Given the description of an element on the screen output the (x, y) to click on. 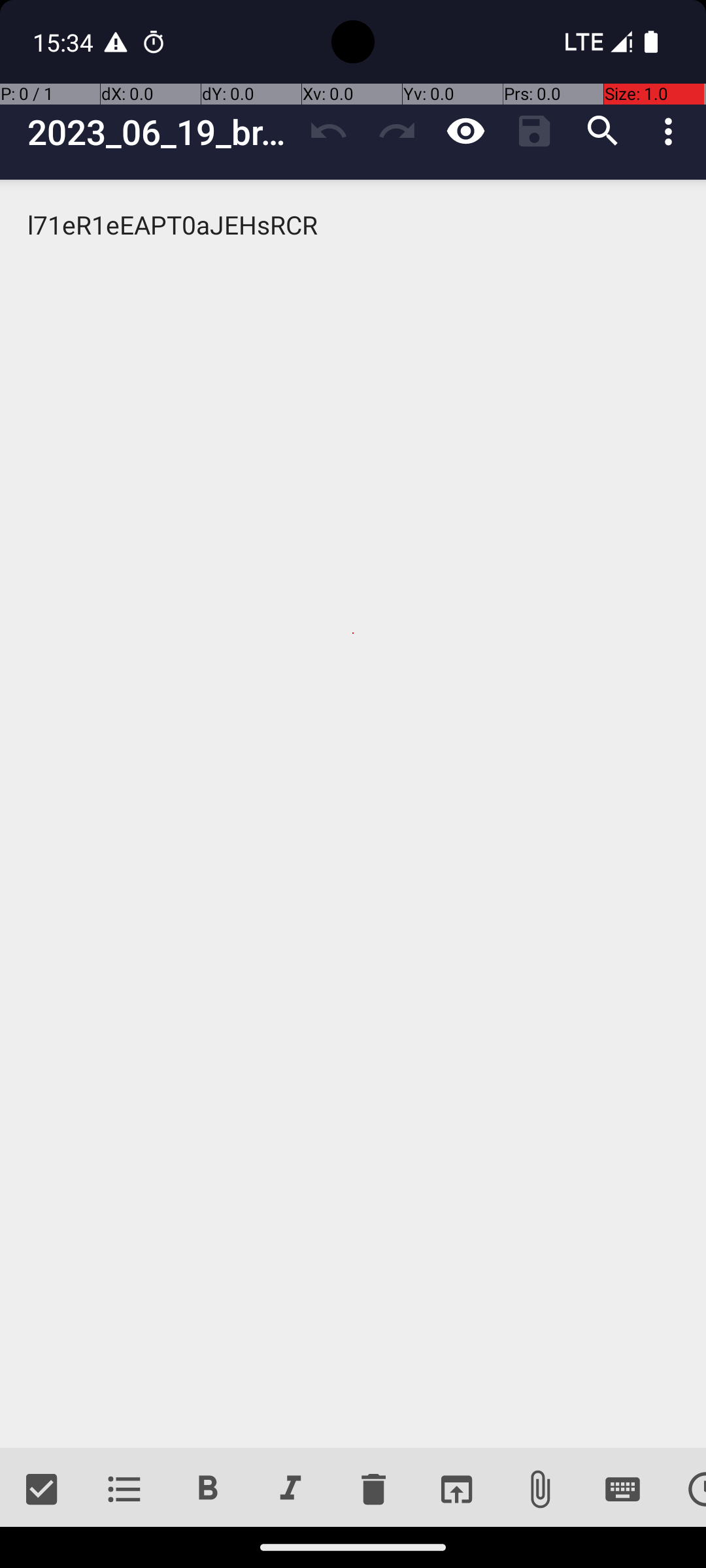
2023_06_19_brave_bear_2ipi Element type: android.widget.TextView (160, 131)
Undo Element type: android.widget.TextView (328, 131)
Redo Element type: android.widget.TextView (396, 131)
View mode Element type: android.widget.TextView (465, 131)
l71eR1eEAPT0aJEHsRCR
 Element type: android.widget.EditText (353, 813)
Check list Element type: android.widget.ImageView (41, 1488)
Unordered list Element type: android.widget.ImageView (124, 1488)
Bold Element type: android.widget.ImageView (207, 1488)
Italic Element type: android.widget.ImageView (290, 1488)
Delete lines Element type: android.widget.ImageView (373, 1488)
Open link Element type: android.widget.ImageView (456, 1488)
Attach Element type: android.widget.ImageView (539, 1488)
Special Key Element type: android.widget.ImageView (622, 1488)
Date and time Element type: android.widget.ImageView (685, 1488)
